Given the description of an element on the screen output the (x, y) to click on. 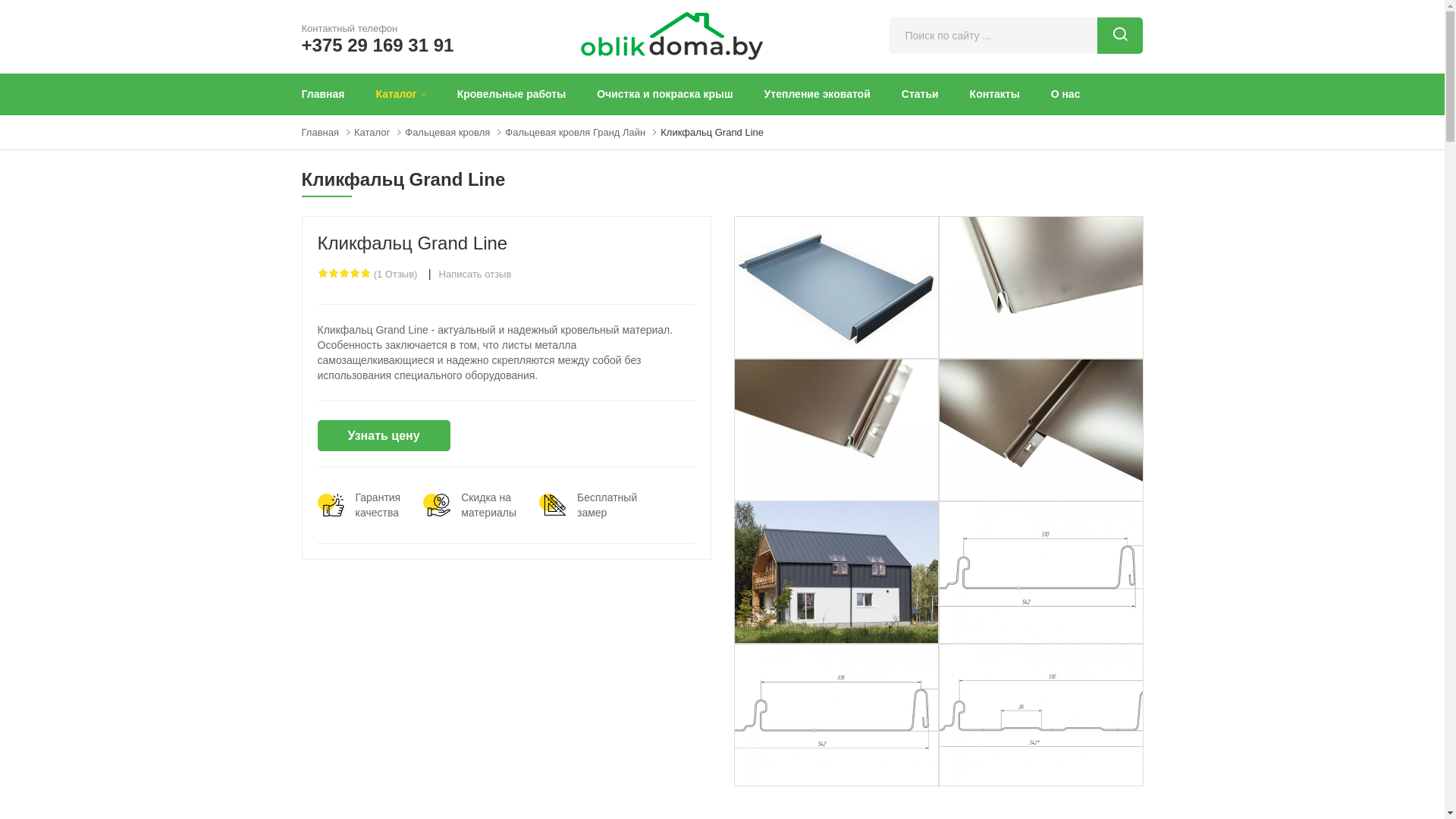
+375 29 169 31 91 Element type: text (377, 43)
sisea.search Element type: text (1119, 34)
